Given the description of an element on the screen output the (x, y) to click on. 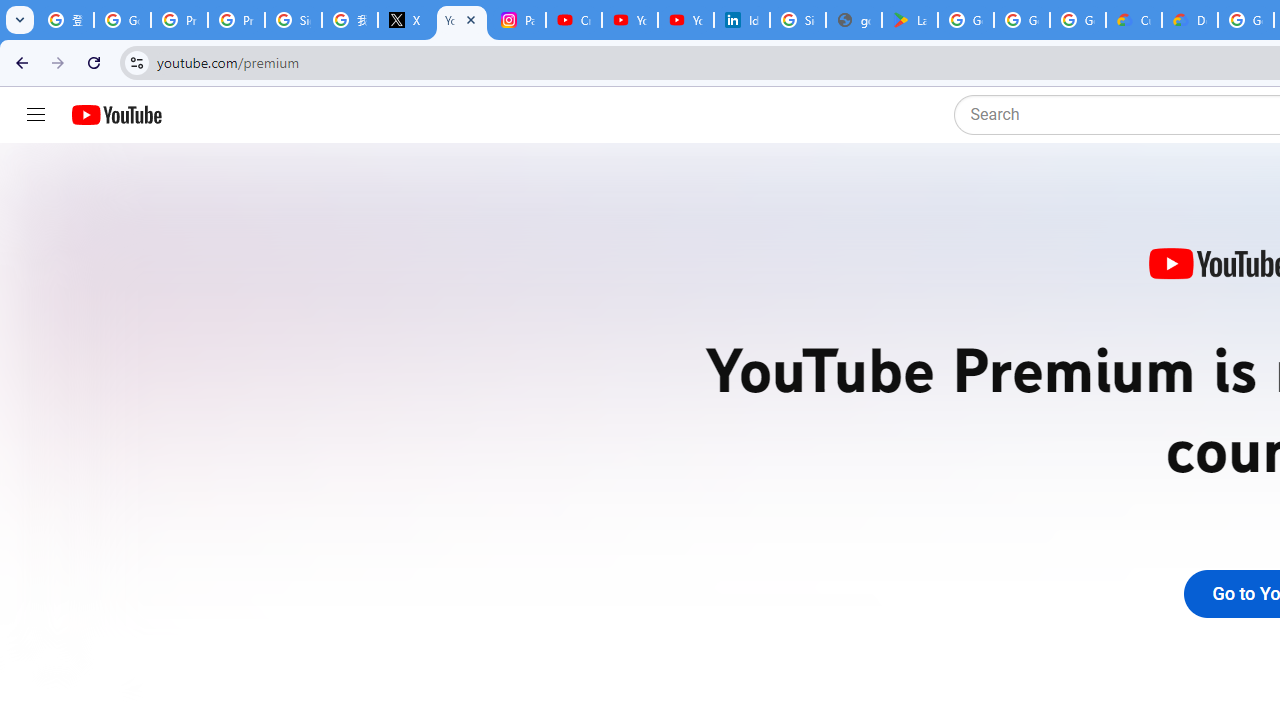
Privacy Help Center - Policies Help (235, 20)
Privacy Help Center - Policies Help (179, 20)
Last Shelter: Survival - Apps on Google Play (909, 20)
Guide (35, 115)
